Given the description of an element on the screen output the (x, y) to click on. 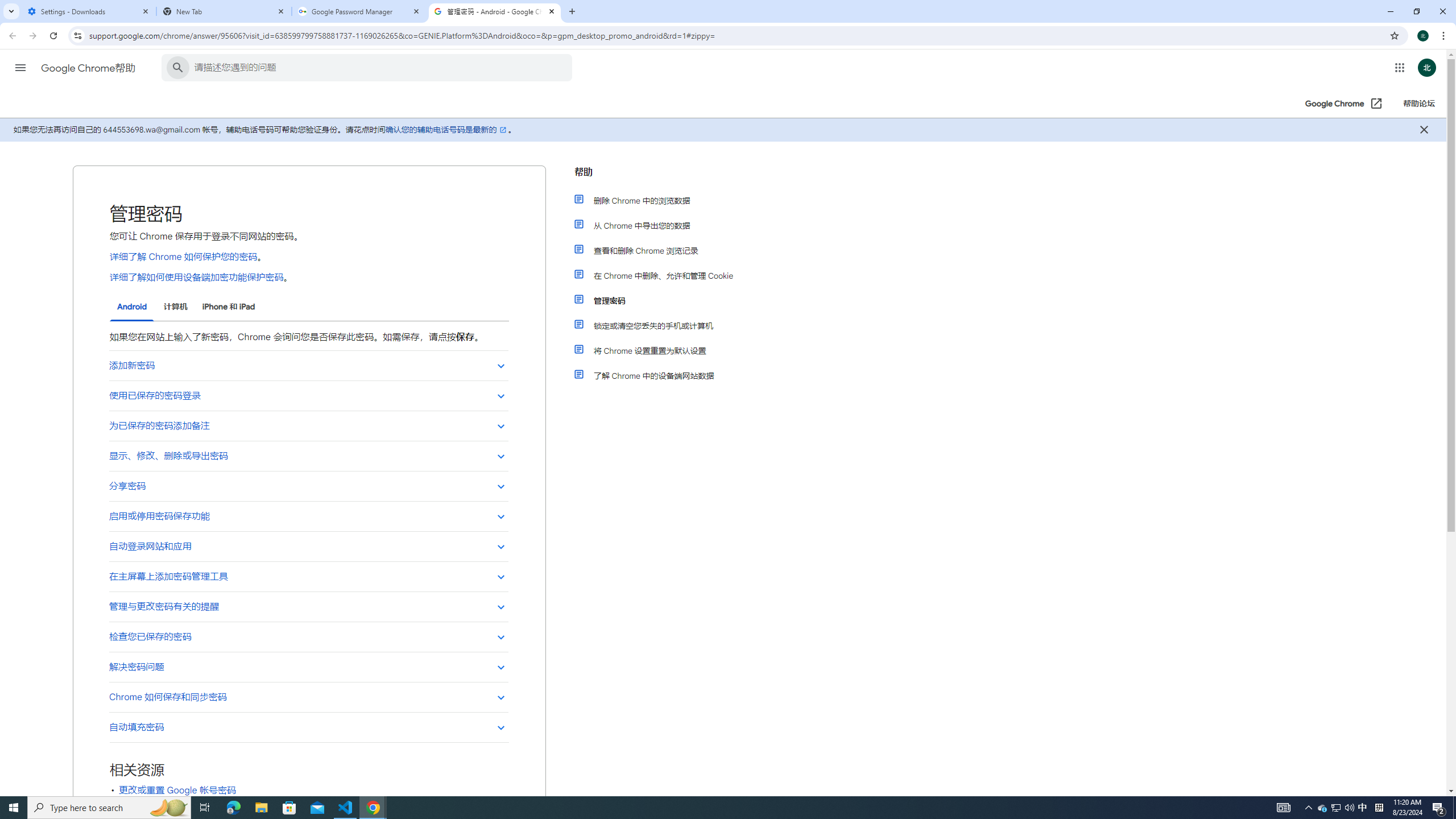
Android (131, 307)
Settings - Downloads (88, 11)
New Tab (224, 11)
